Given the description of an element on the screen output the (x, y) to click on. 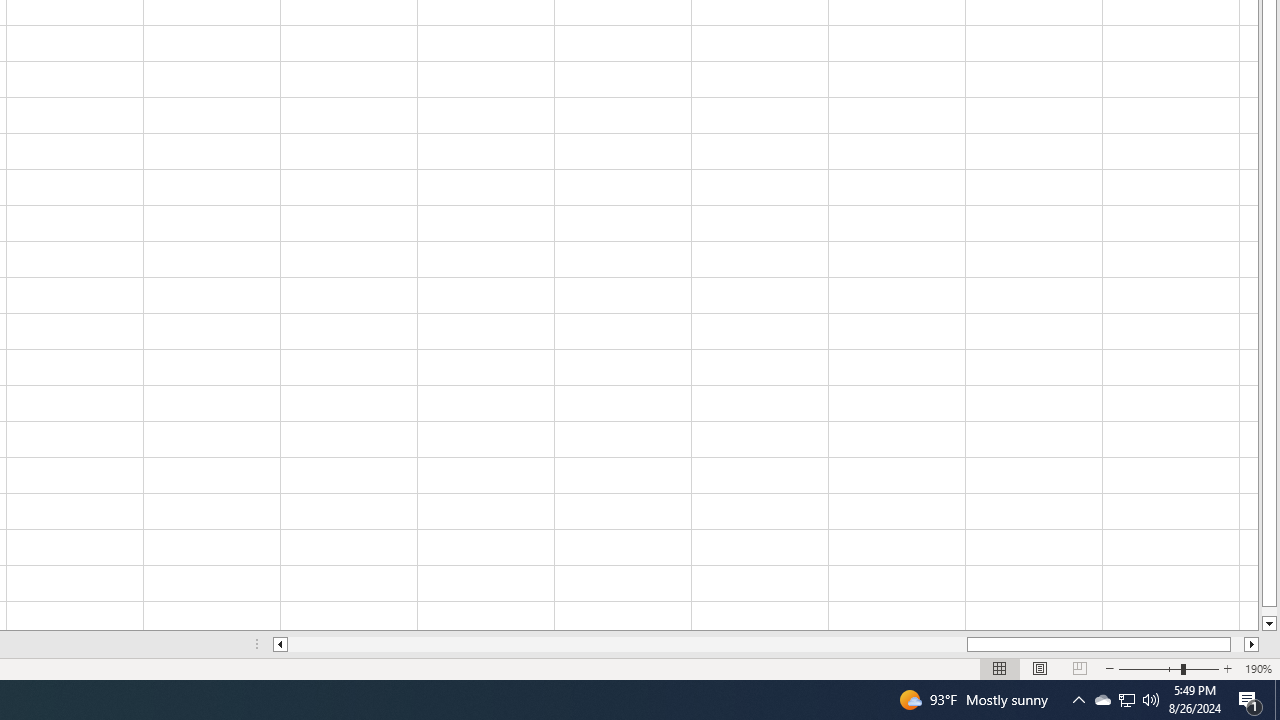
Page down (1268, 611)
Page right (1237, 644)
Zoom (1168, 668)
Zoom Out (1149, 668)
Zoom In (1227, 668)
Column left (279, 644)
Line down (1268, 624)
Column right (1252, 644)
Page left (627, 644)
